Given the description of an element on the screen output the (x, y) to click on. 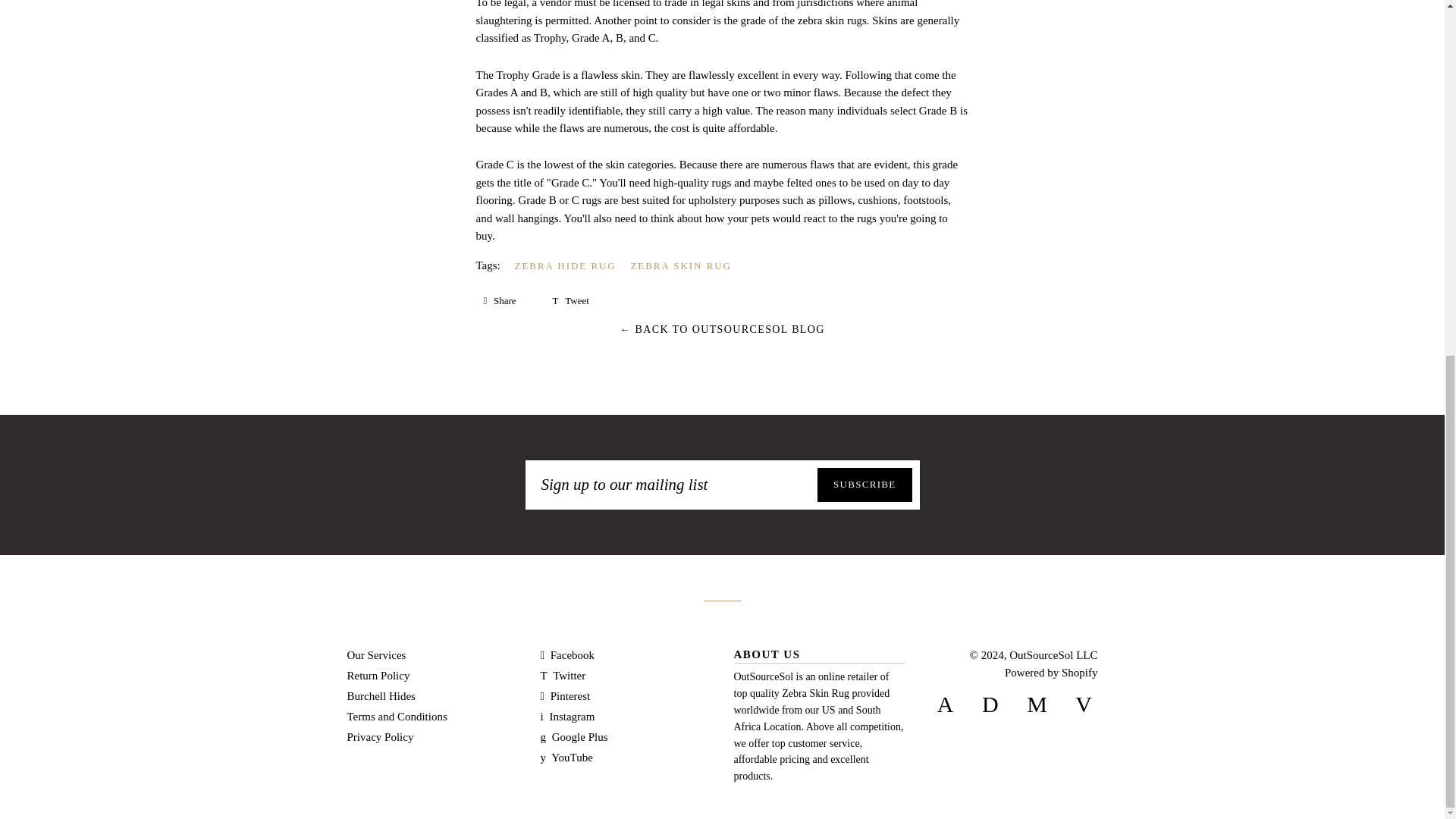
OutSourceSol LLC on Twitter (562, 675)
OutSourceSol LLC on Pinterest (564, 695)
OutSourceSol LLC on Facebook (567, 654)
OutSourceSol LLC on YouTube (566, 757)
OutSourceSol LLC on Instagram (567, 716)
OutSourceSol LLC on Google Plus (573, 736)
